Given the description of an element on the screen output the (x, y) to click on. 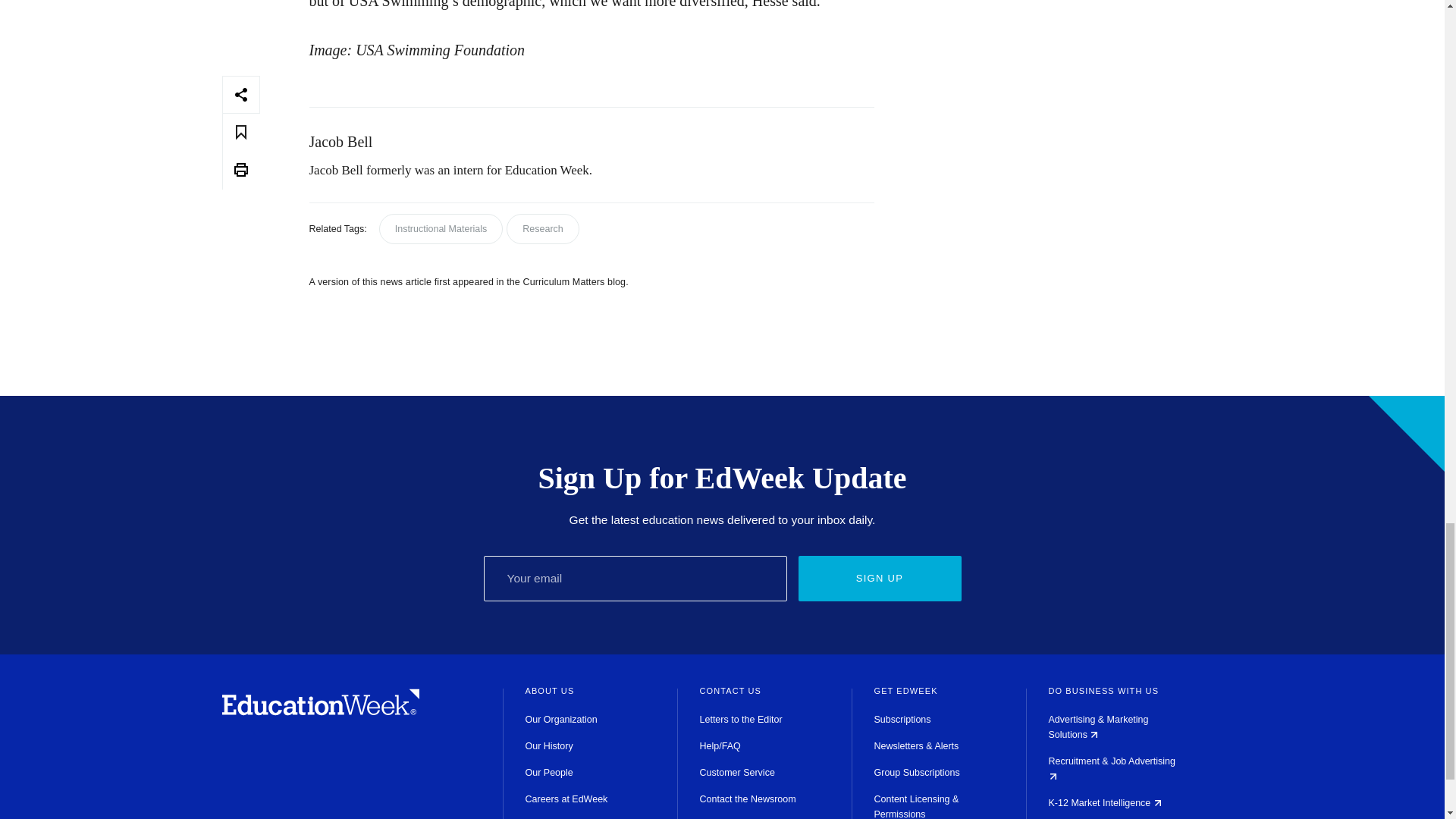
Homepage (320, 711)
